Given the description of an element on the screen output the (x, y) to click on. 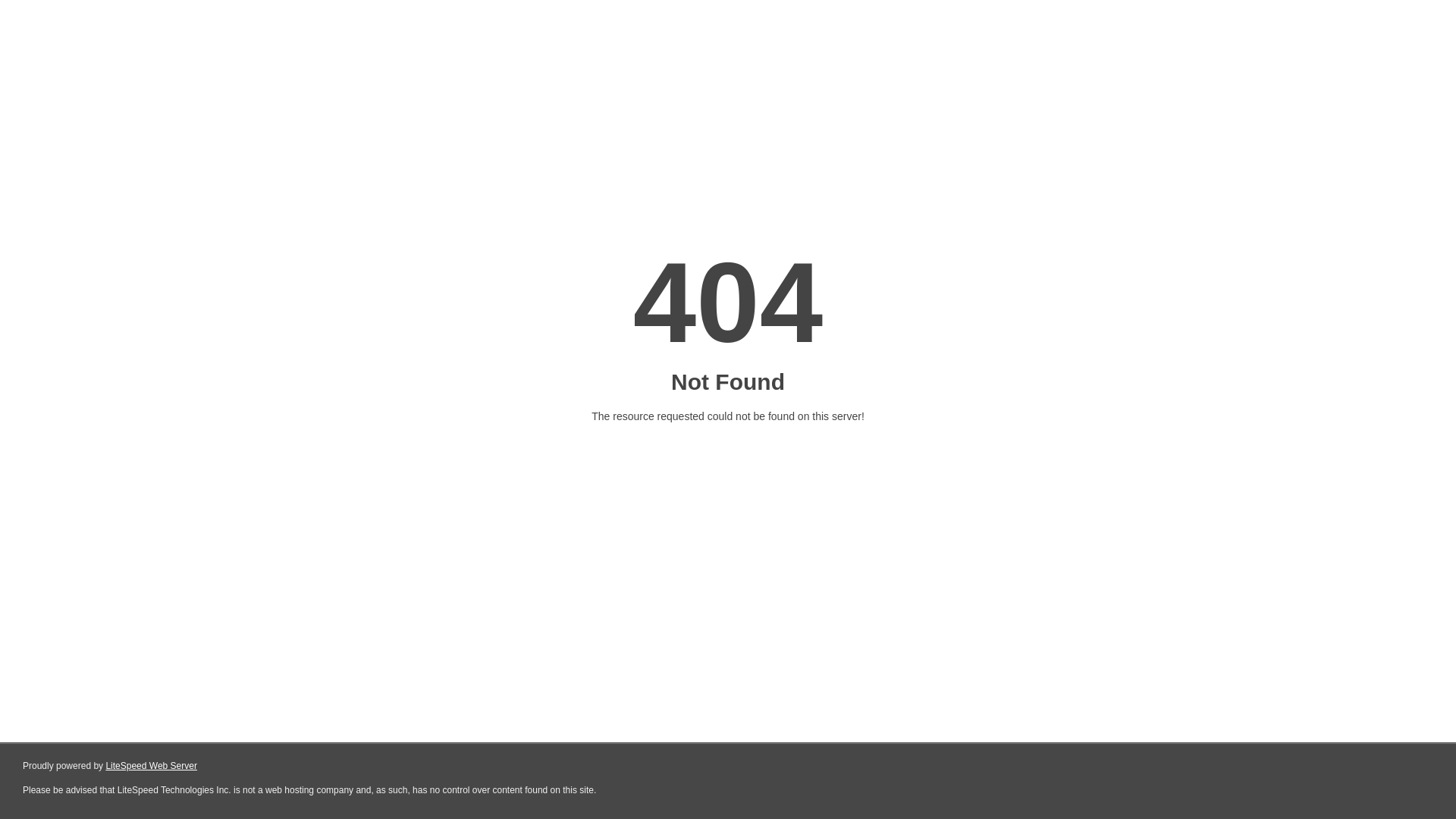
LiteSpeed Web Server Element type: text (151, 765)
